Given the description of an element on the screen output the (x, y) to click on. 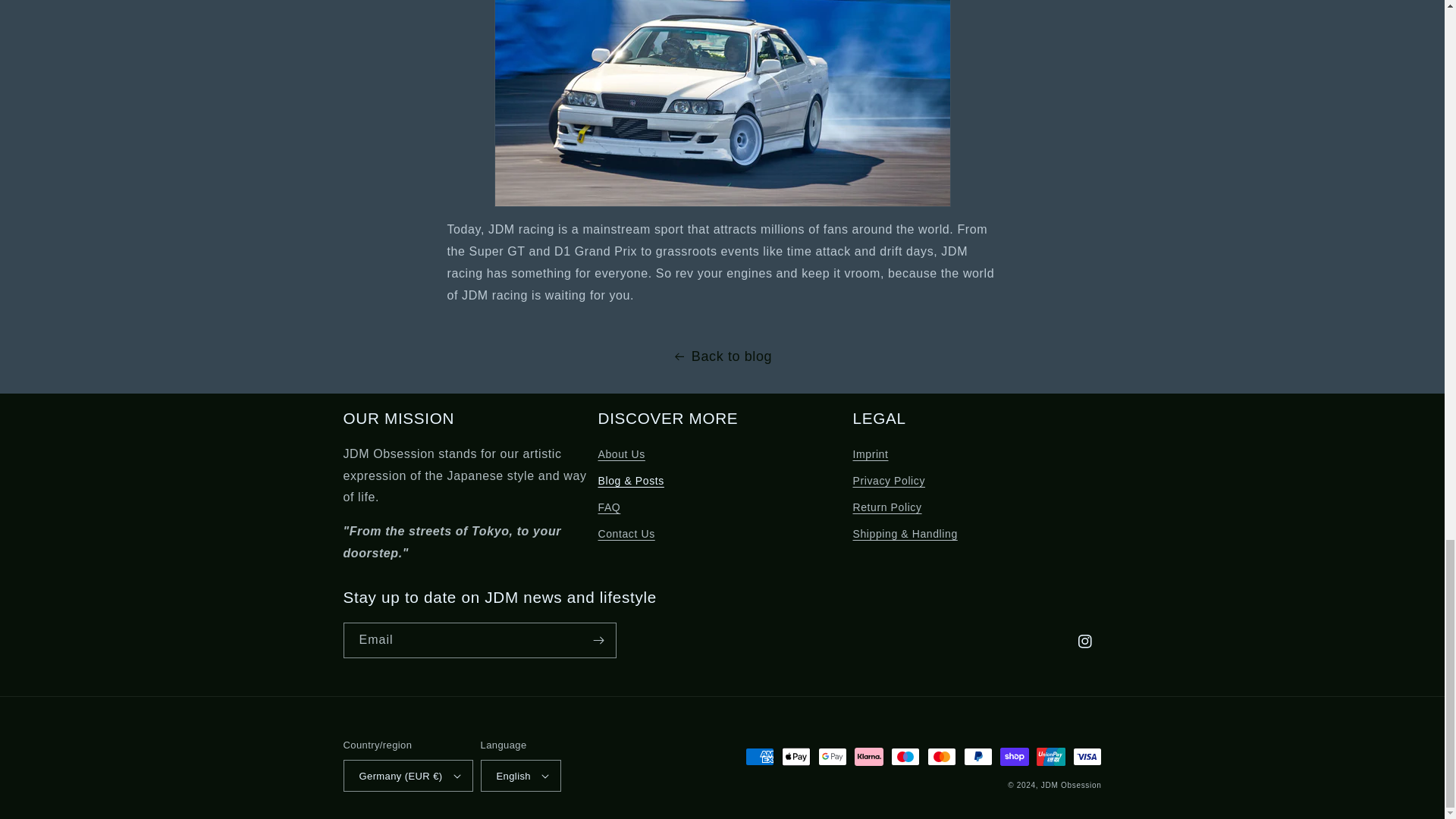
About Us (620, 456)
Imprint (869, 456)
Contact Us (624, 533)
Privacy Policy (887, 480)
Return Policy (886, 507)
